Given the description of an element on the screen output the (x, y) to click on. 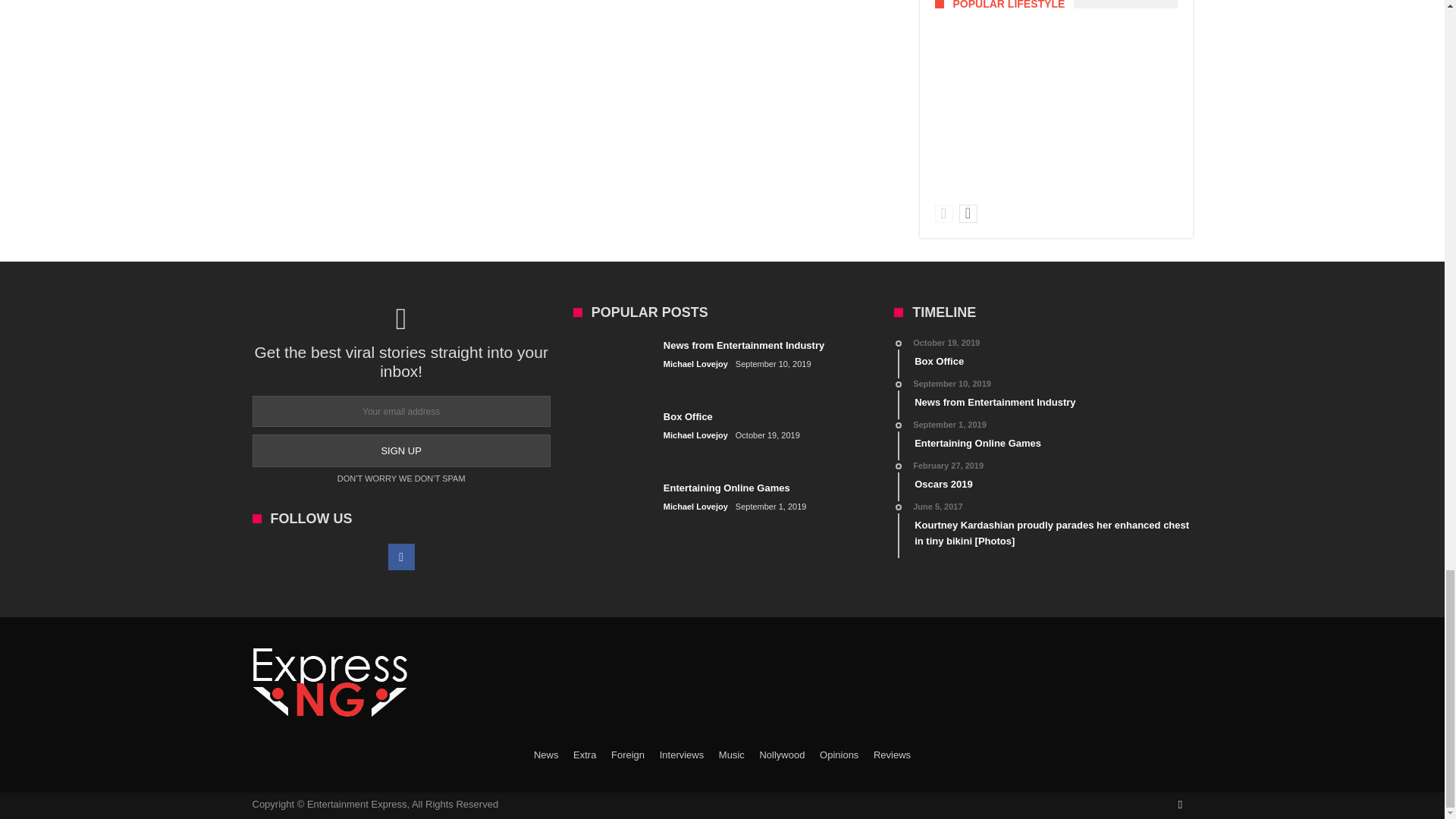
Posts by Michael Lovejoy (695, 435)
Facebook (401, 557)
Sign up (400, 450)
Posts by Michael Lovejoy (695, 364)
Posts by Michael Lovejoy (695, 506)
